Given the description of an element on the screen output the (x, y) to click on. 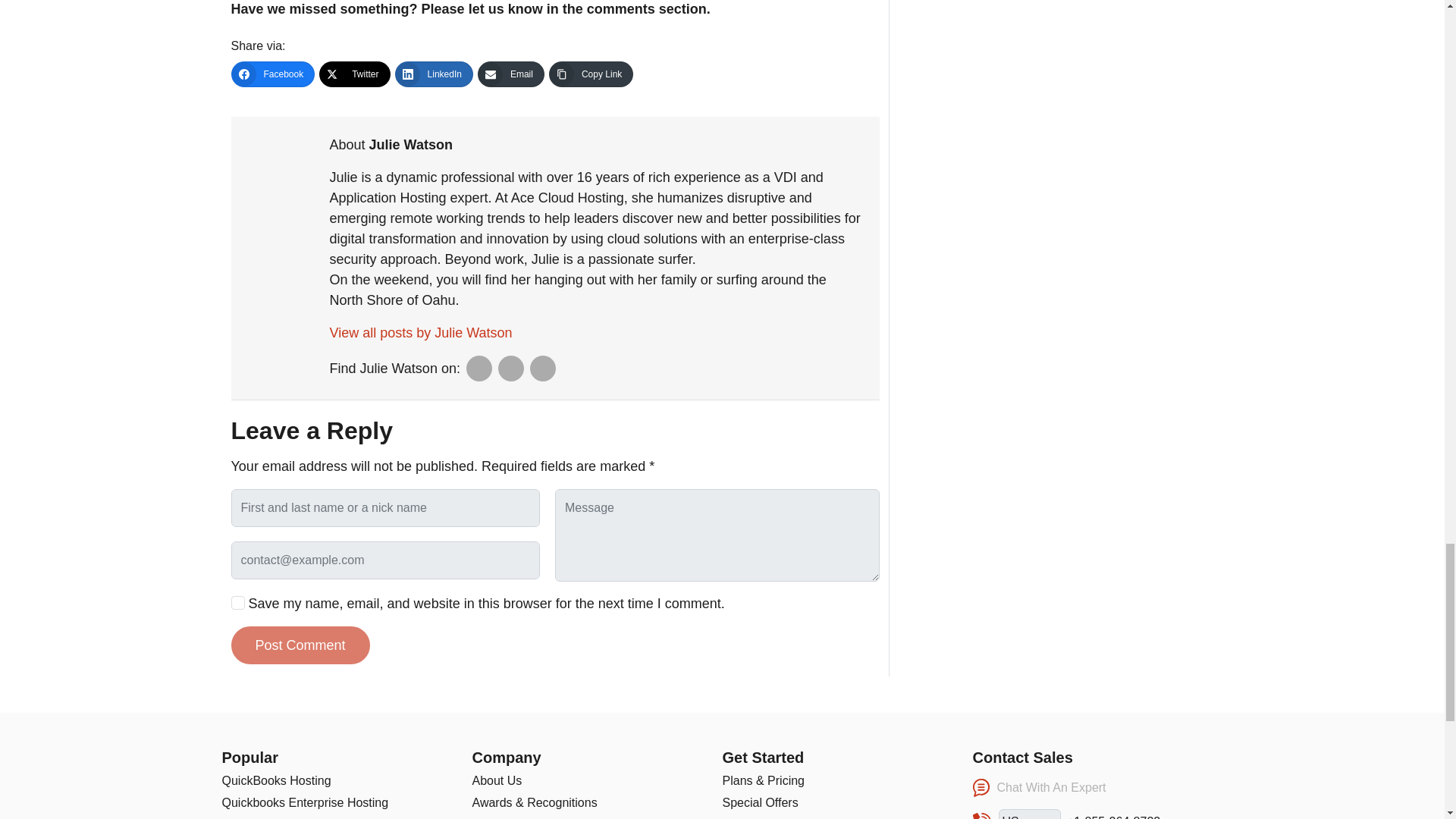
Post Comment (299, 645)
yes (237, 602)
